Given the description of an element on the screen output the (x, y) to click on. 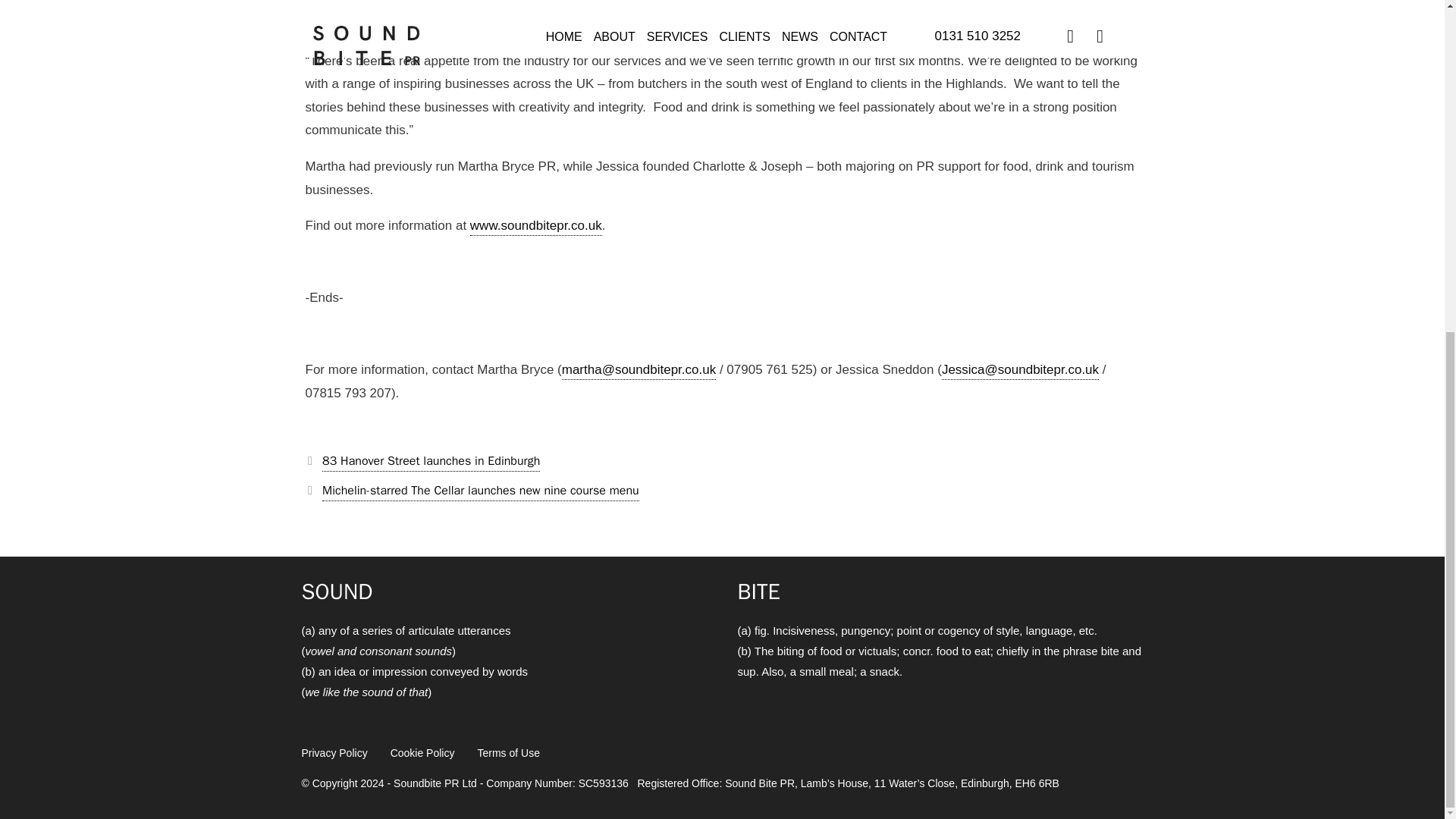
Cookie Policy (422, 752)
Michelin-starred The Cellar launches new nine course menu (480, 492)
Privacy Policy (334, 752)
www.soundbitepr.co.uk (536, 226)
83 Hanover Street launches in Edinburgh (430, 462)
Terms of Use (507, 752)
